Given the description of an element on the screen output the (x, y) to click on. 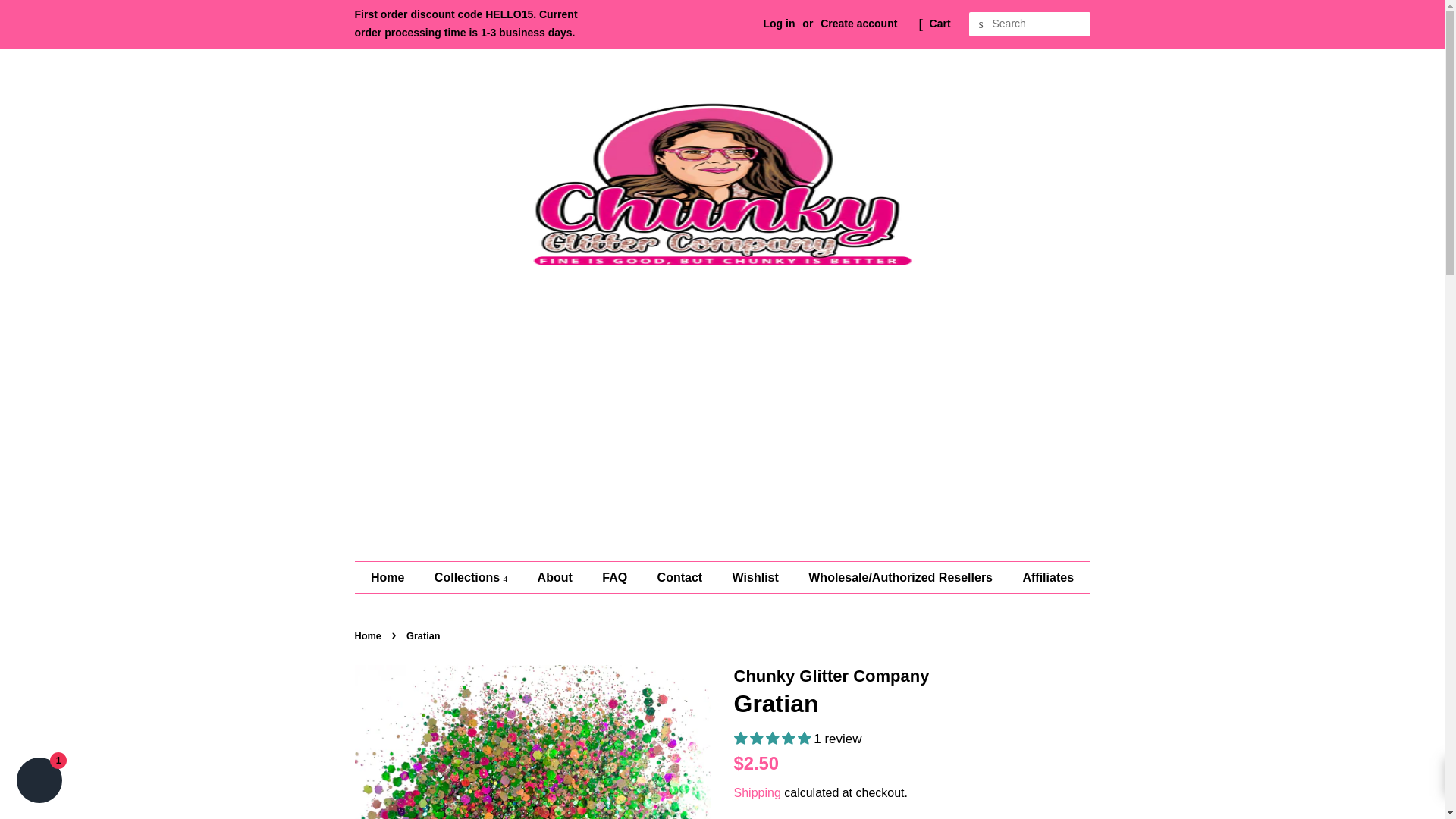
Back to the frontpage (370, 635)
Shopify online store chat (38, 781)
Log in (778, 23)
Collections (472, 576)
Cart (940, 24)
Home (395, 576)
Create account (858, 23)
Search (980, 24)
